Given the description of an element on the screen output the (x, y) to click on. 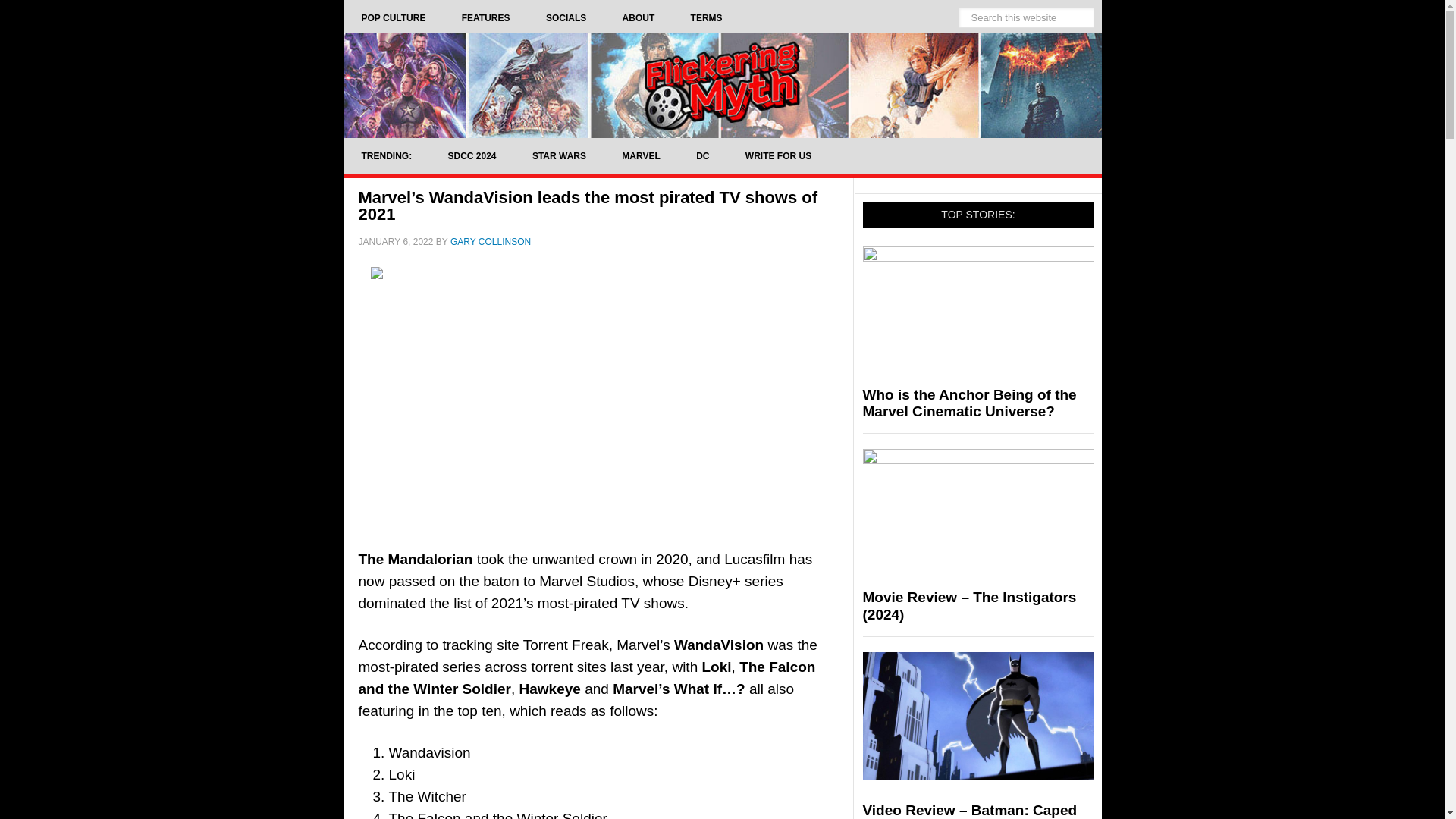
MARVEL (641, 156)
STAR WARS (558, 156)
FEATURES (486, 18)
TERMS (706, 18)
POP CULTURE (393, 18)
GARY COLLINSON (490, 241)
Flickering Myth Social Media (565, 18)
ABOUT (638, 18)
Pop Culture (393, 18)
